Given the description of an element on the screen output the (x, y) to click on. 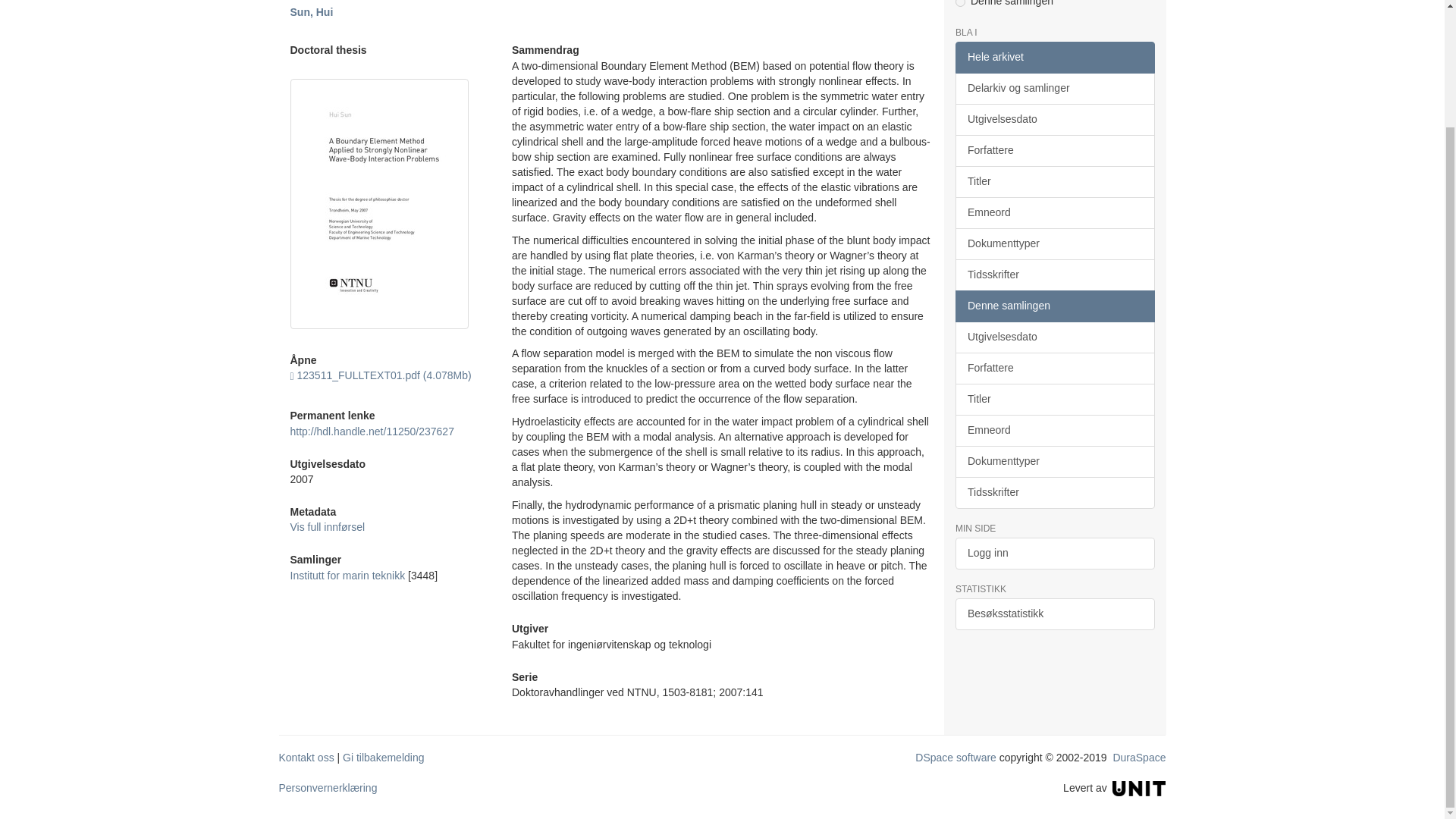
Emneord (1054, 213)
Tidsskrifter (1054, 275)
Hele arkivet (1054, 57)
Titler (1054, 182)
Unit (1139, 787)
Utgivelsesdato (1054, 119)
Dokumenttyper (1054, 244)
Sun, Hui (311, 11)
Delarkiv og samlinger (1054, 88)
Institutt for marin teknikk (346, 575)
